Given the description of an element on the screen output the (x, y) to click on. 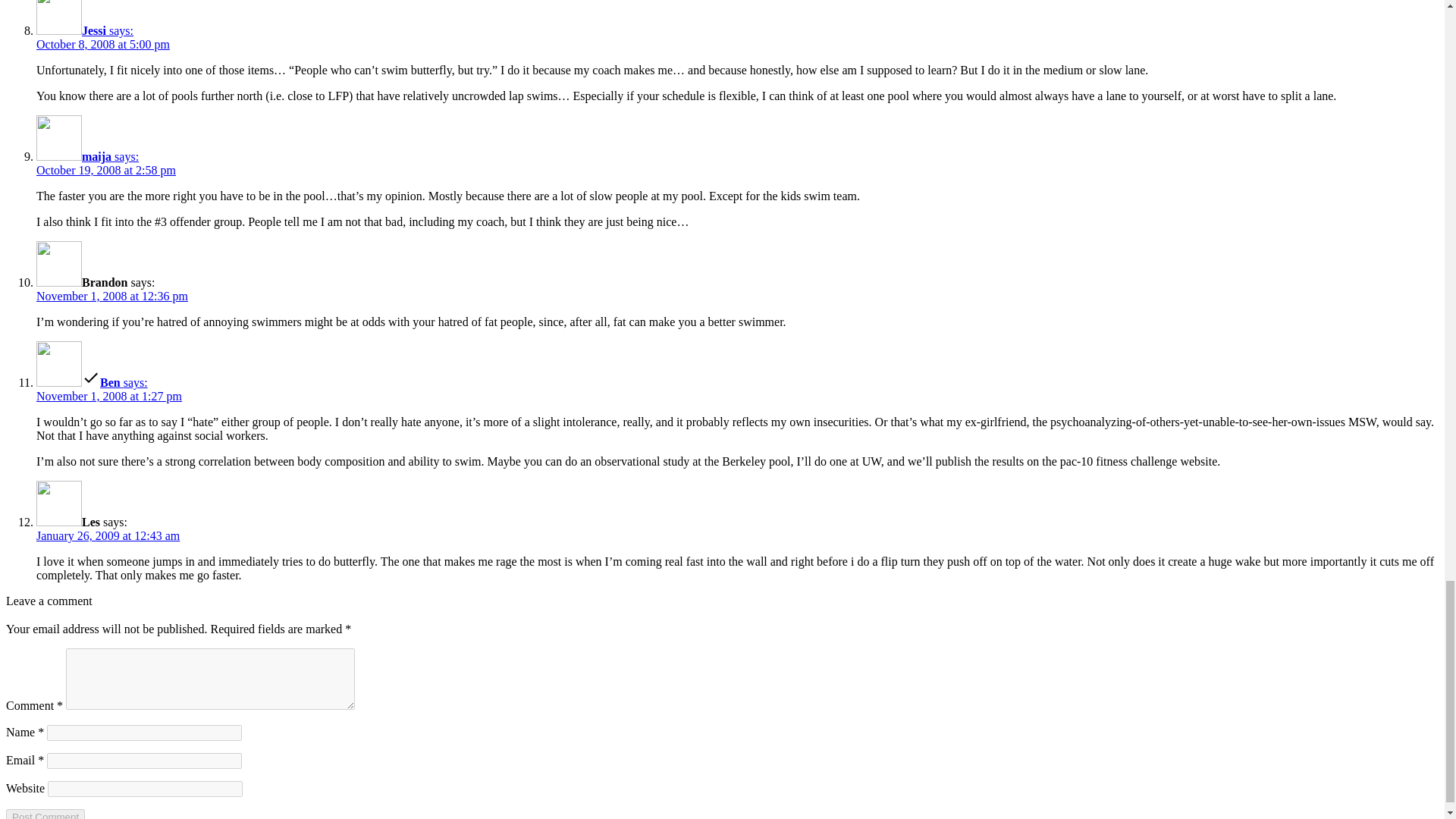
October 8, 2008 at 5:00 pm (103, 43)
November 1, 2008 at 1:27 pm (109, 395)
November 1, 2008 at 1:27 pm (109, 395)
Ben says: (92, 382)
Jessi says: (84, 30)
maija says: (87, 155)
October 8, 2008 at 5:00 pm (103, 43)
January 26, 2009 at 12:43 am (107, 535)
October 19, 2008 at 2:58 pm (106, 169)
January 26, 2009 at 12:43 am (107, 535)
November 1, 2008 at 12:36 pm (111, 295)
November 1, 2008 at 12:36 pm (111, 295)
October 19, 2008 at 2:58 pm (106, 169)
